Given the description of an element on the screen output the (x, y) to click on. 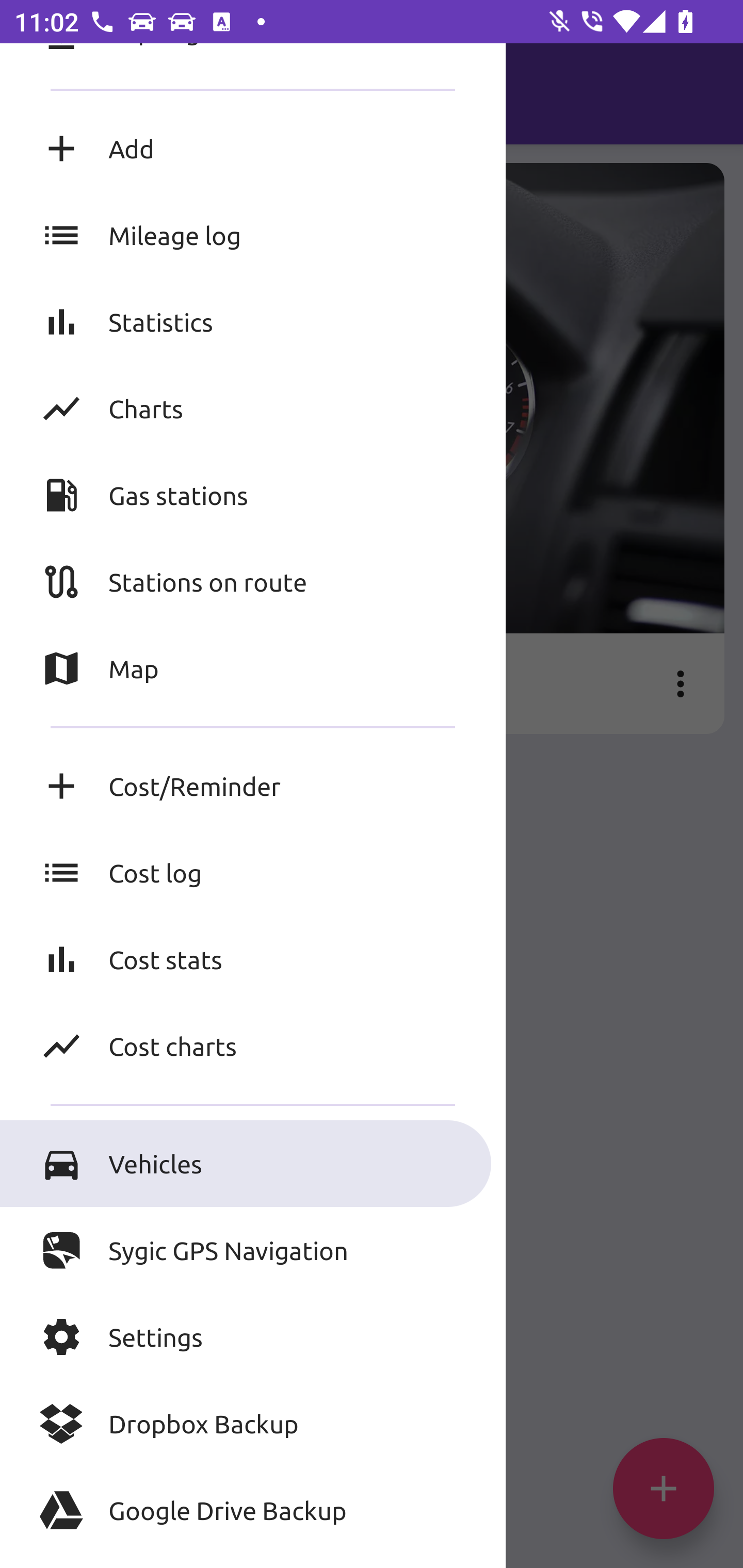
Add (252, 148)
Mileage log (252, 235)
Statistics (252, 322)
Charts (252, 408)
Gas stations (252, 494)
Stations on route (252, 581)
Map (252, 668)
Cost/Reminder (252, 786)
Cost log (252, 872)
Cost stats (252, 958)
Cost charts (252, 1045)
Vehicles (252, 1163)
Sygic GPS Navigation (252, 1250)
Settings (252, 1336)
Dropbox Backup (252, 1423)
Google Drive Backup (252, 1510)
